Given the description of an element on the screen output the (x, y) to click on. 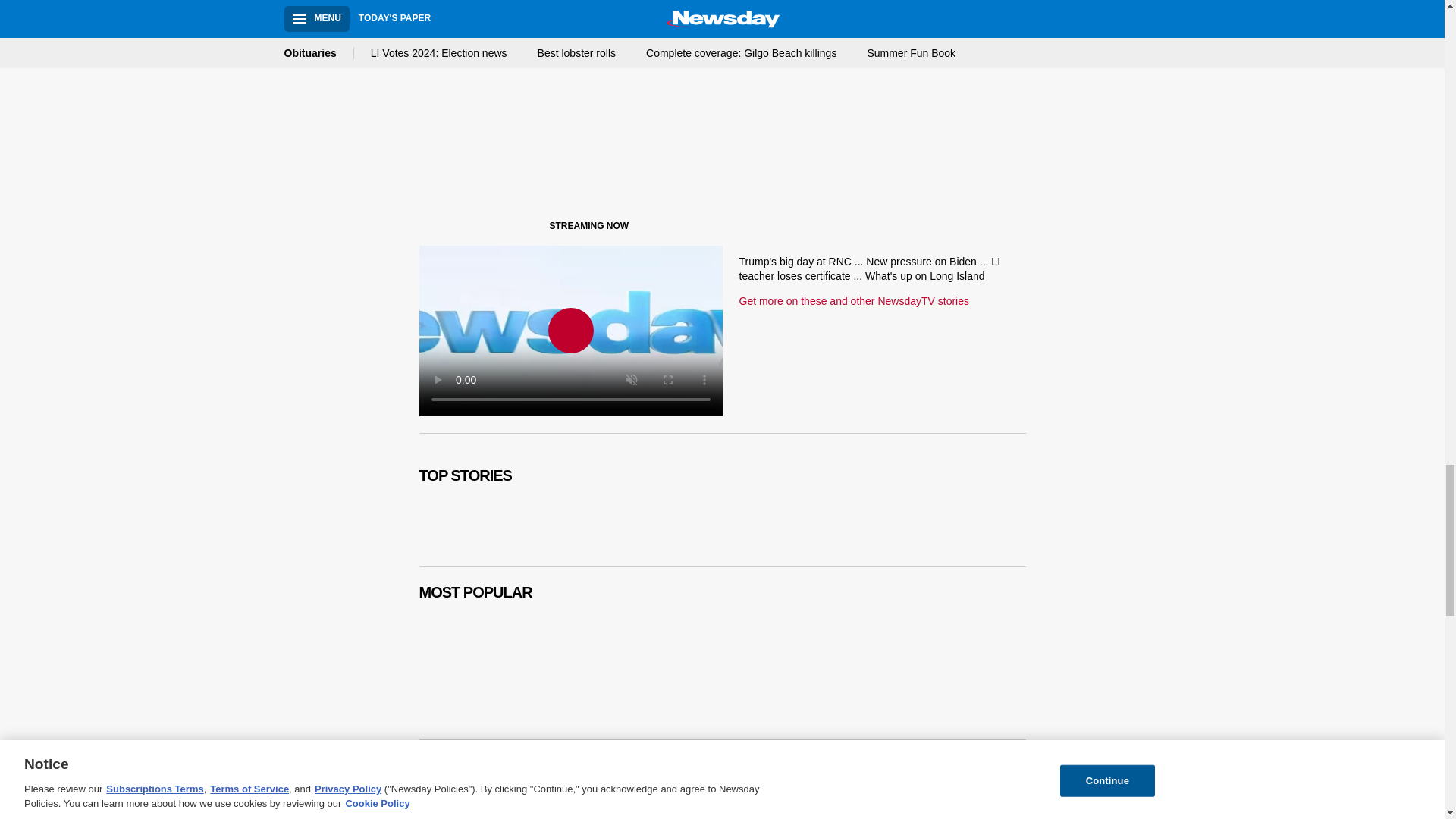
STREAMING NOW (530, 228)
Play Video (569, 329)
